Given the description of an element on the screen output the (x, y) to click on. 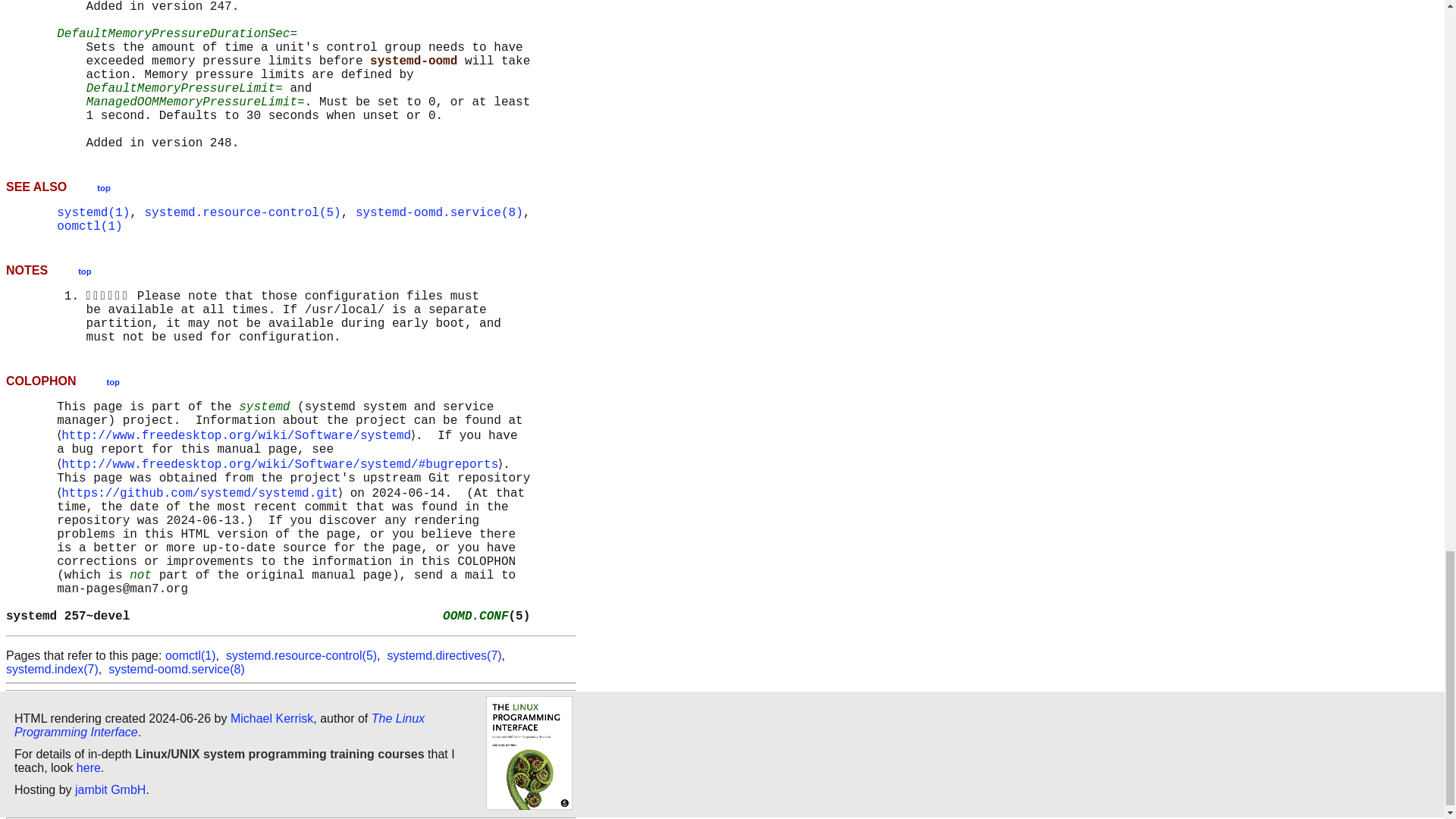
top (103, 186)
top (84, 269)
top (112, 380)
